Given the description of an element on the screen output the (x, y) to click on. 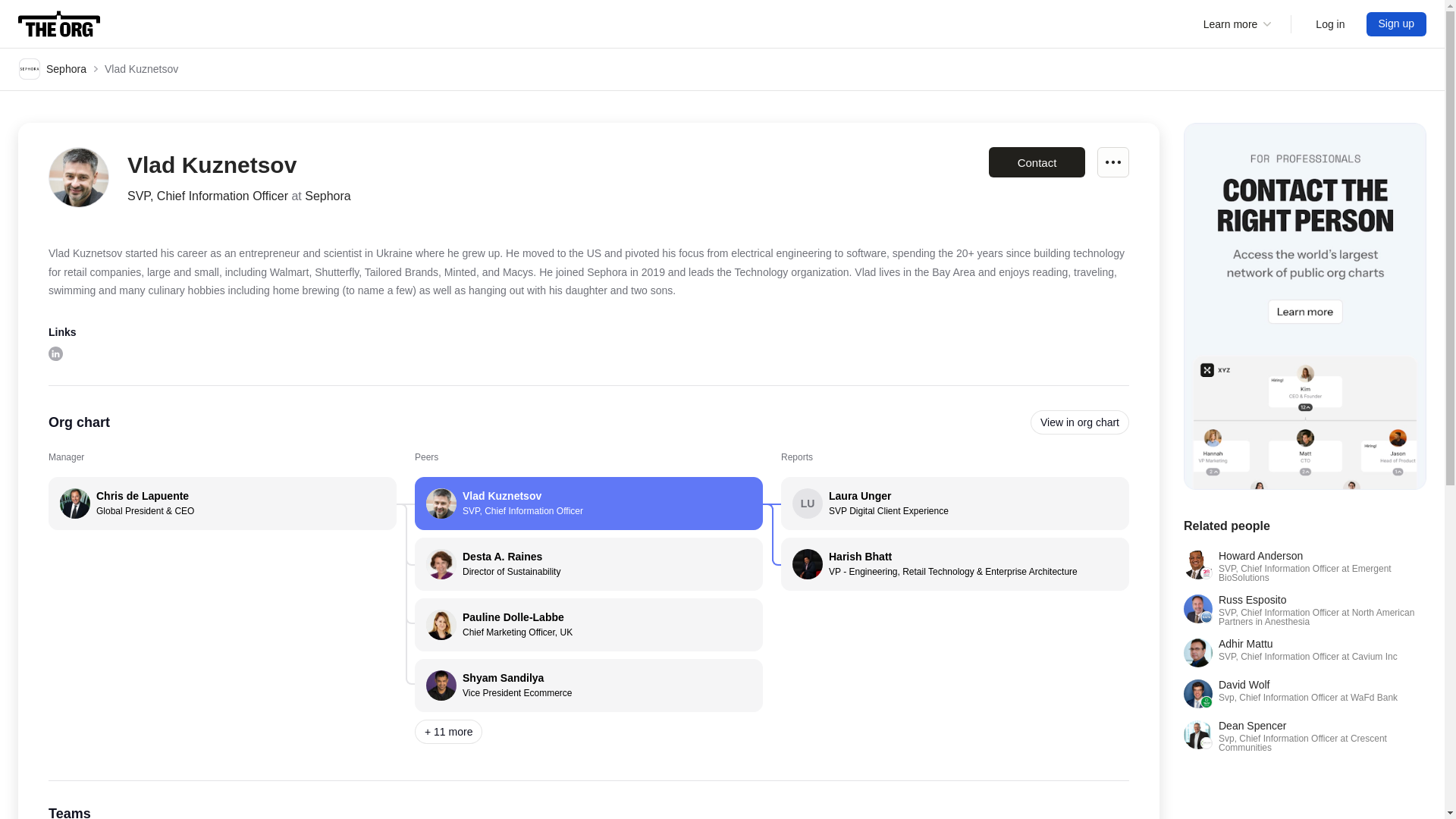
Contact (588, 502)
Join, edit and report menu (1036, 162)
Sign up to The Org (588, 624)
The Org Home (1113, 162)
View in org chart (1396, 24)
Sign up (58, 23)
View on linkedIn (588, 563)
Log in to The Org (954, 502)
